Given the description of an element on the screen output the (x, y) to click on. 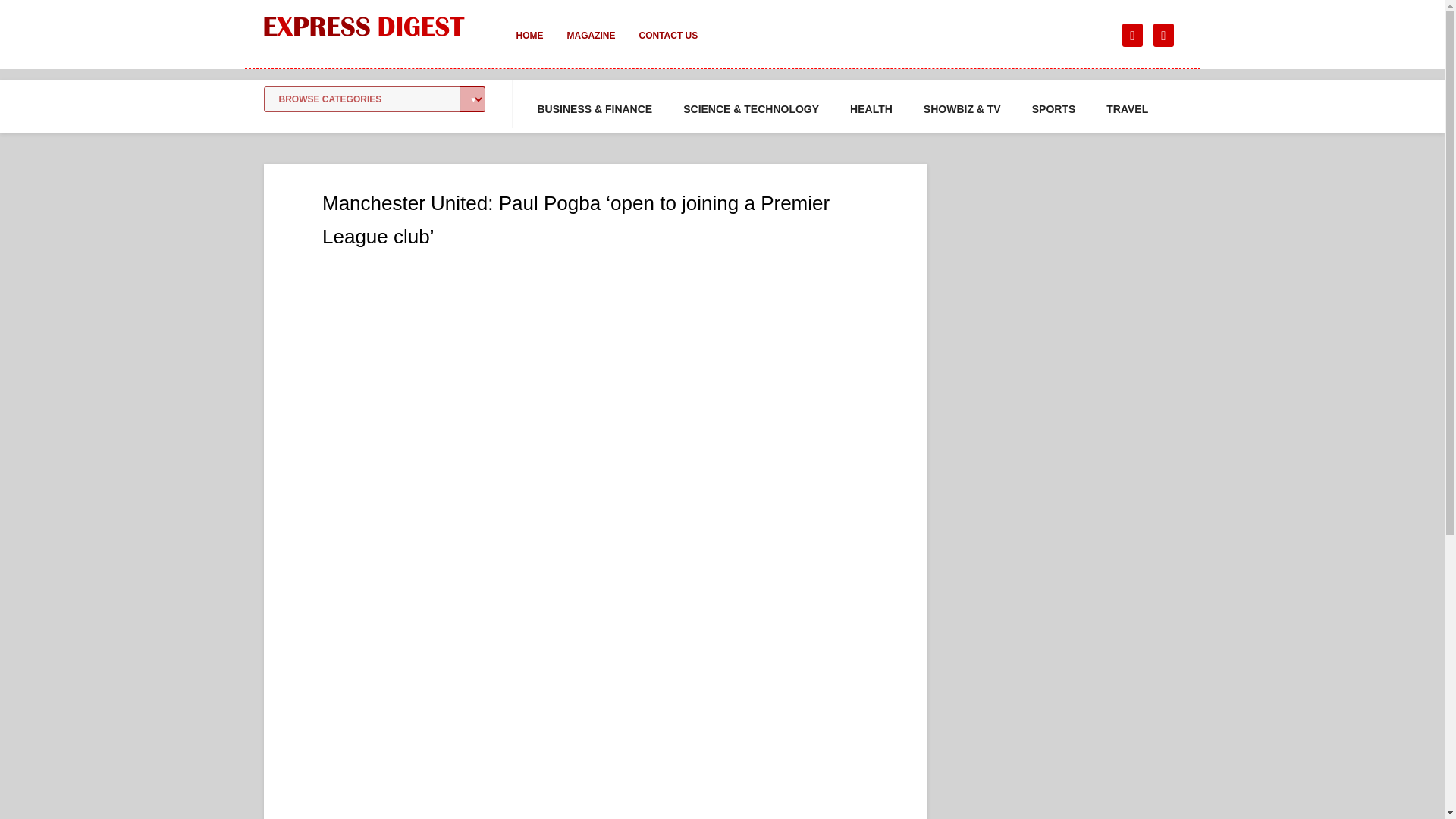
CONTACT US (667, 45)
TRAVEL (1127, 109)
HEALTH (871, 109)
MAGAZINE (590, 45)
SPORTS (1053, 109)
